Given the description of an element on the screen output the (x, y) to click on. 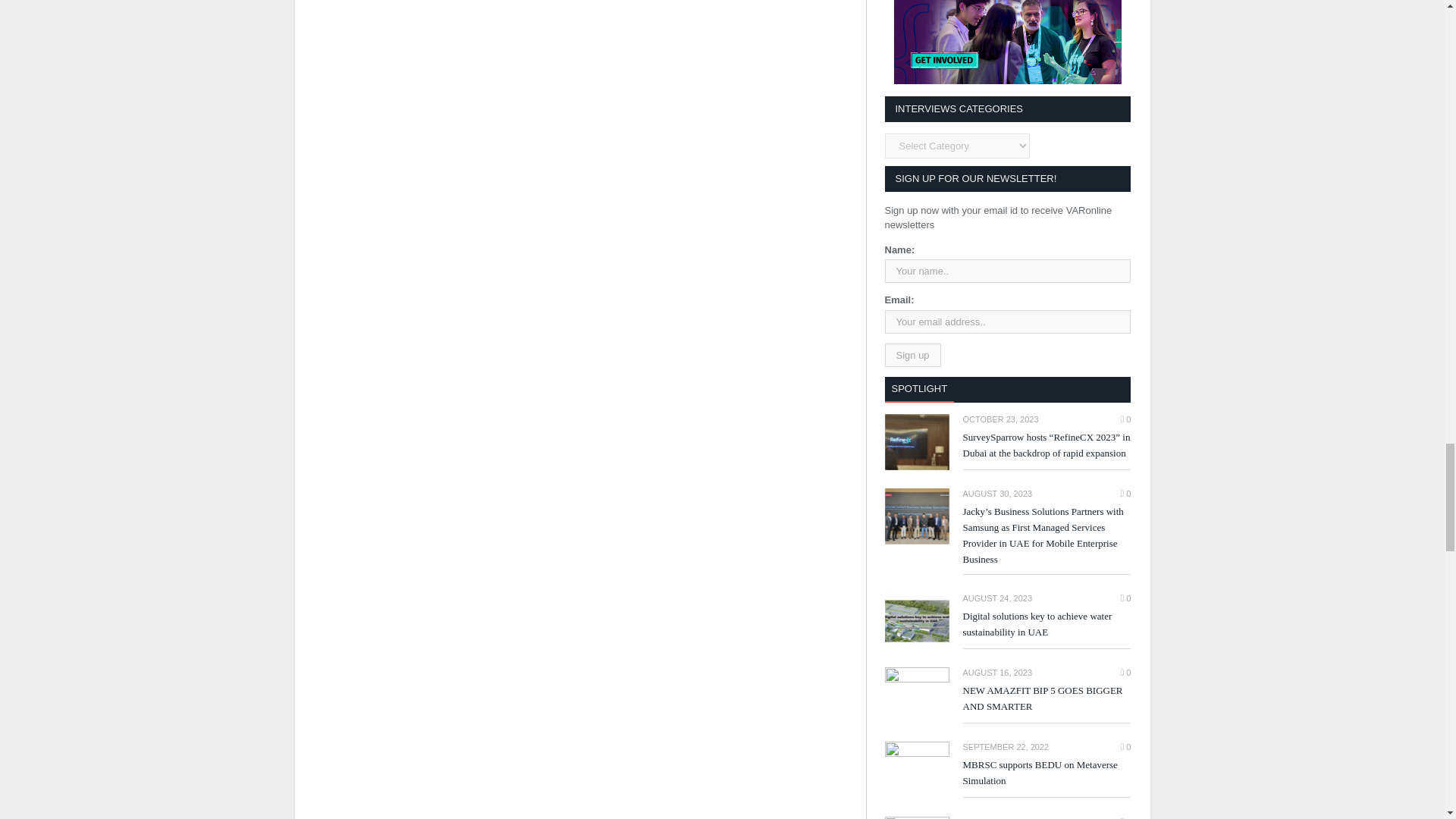
Sign up (911, 354)
